Given the description of an element on the screen output the (x, y) to click on. 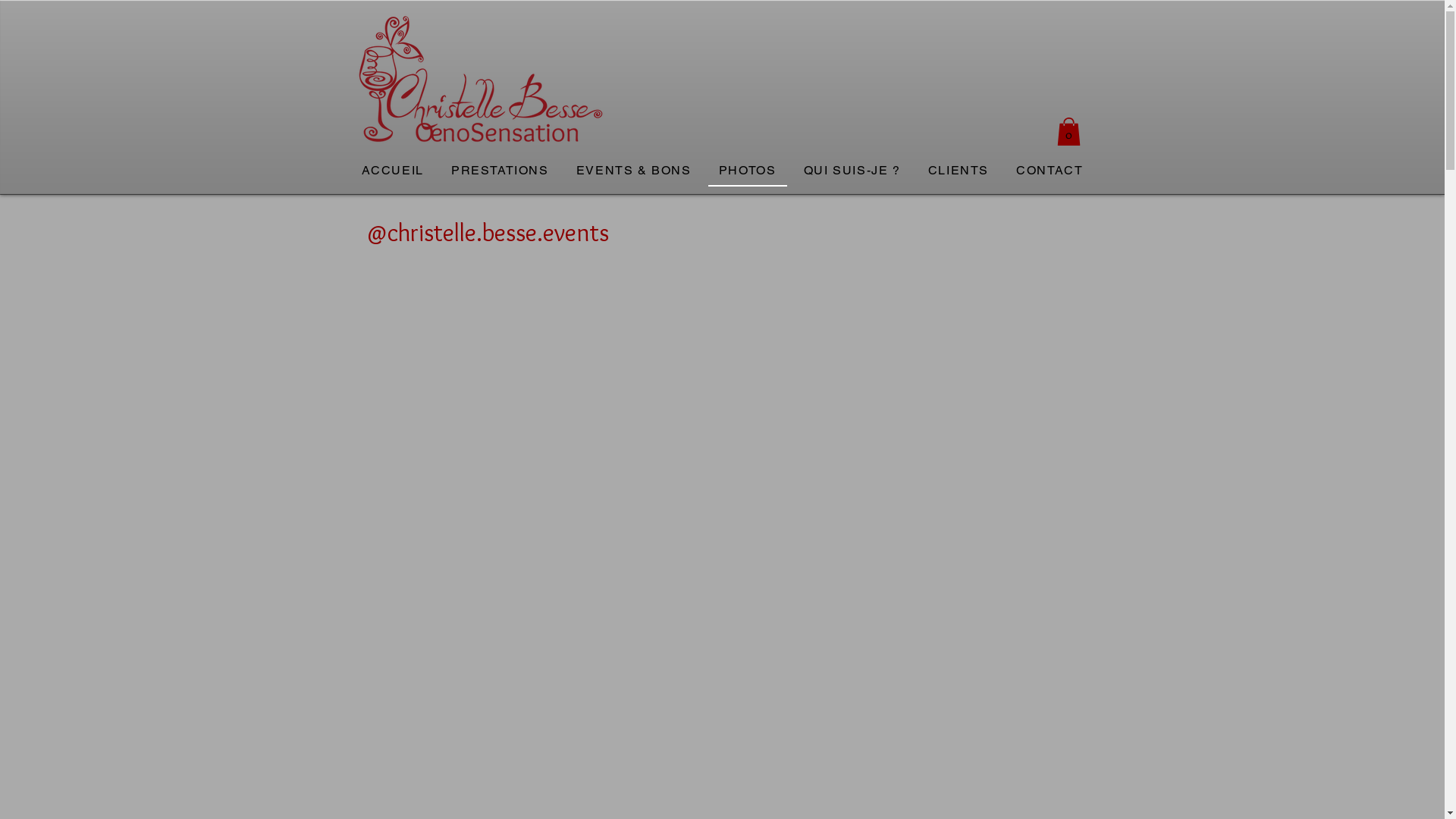
PHOTOS Element type: text (747, 170)
EVENTS & BONS Element type: text (633, 170)
CLIENTS Element type: text (958, 170)
0 Element type: text (1068, 131)
ACCUEIL Element type: text (391, 170)
PRESTATIONS Element type: text (499, 170)
QUI SUIS-JE ? Element type: text (852, 170)
CONTACT Element type: text (1049, 170)
